Given the description of an element on the screen output the (x, y) to click on. 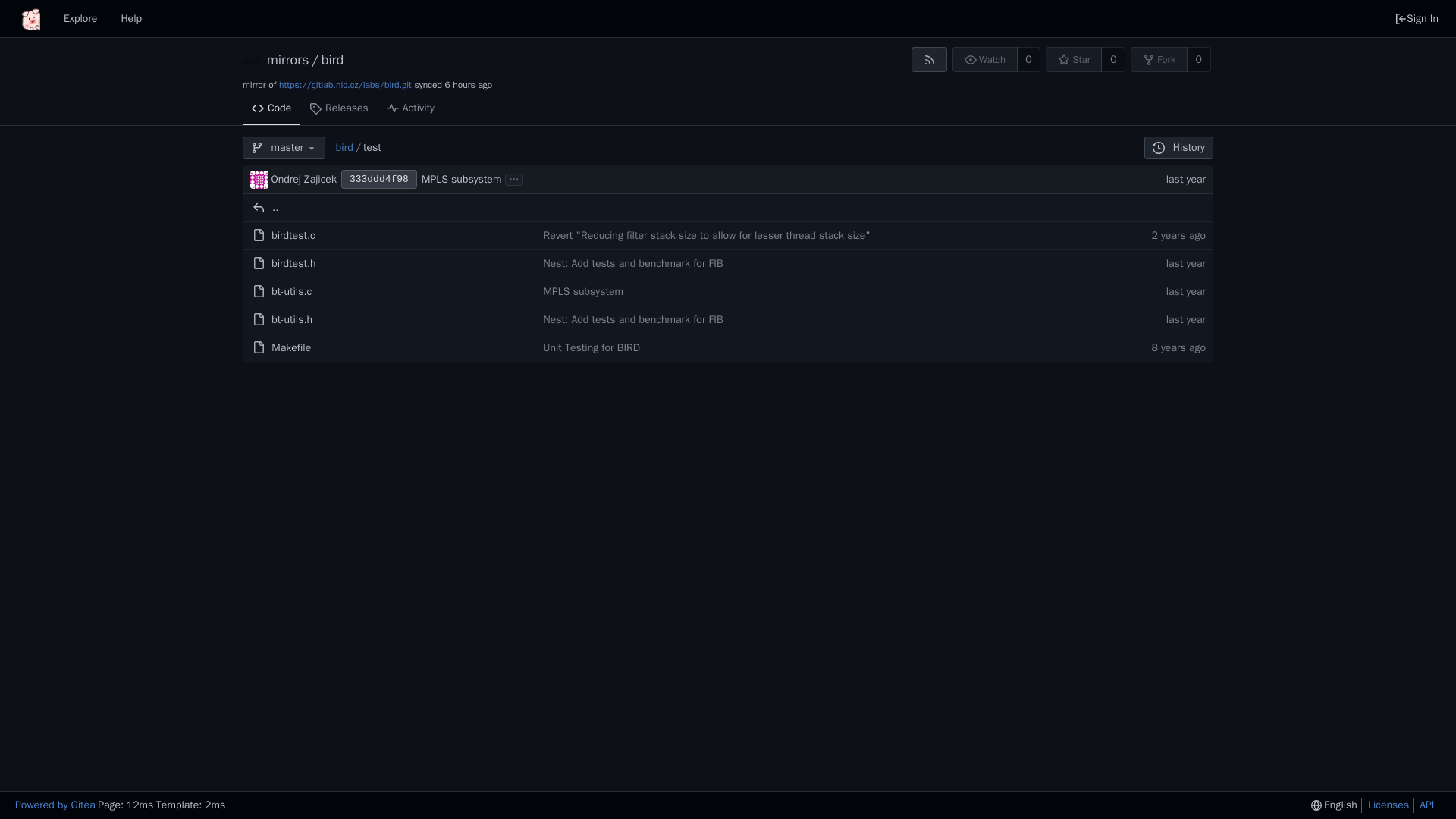
History (1178, 147)
Ondrej Zajicek (303, 179)
bt-utils.c (290, 291)
Nest: Add tests and benchmark for FIB (632, 319)
Fork (1159, 59)
Nest: Add tests and benchmark for FIB (632, 263)
Makefile (290, 347)
Sign In (1416, 17)
Code (271, 108)
birdtest.h (292, 263)
